Given the description of an element on the screen output the (x, y) to click on. 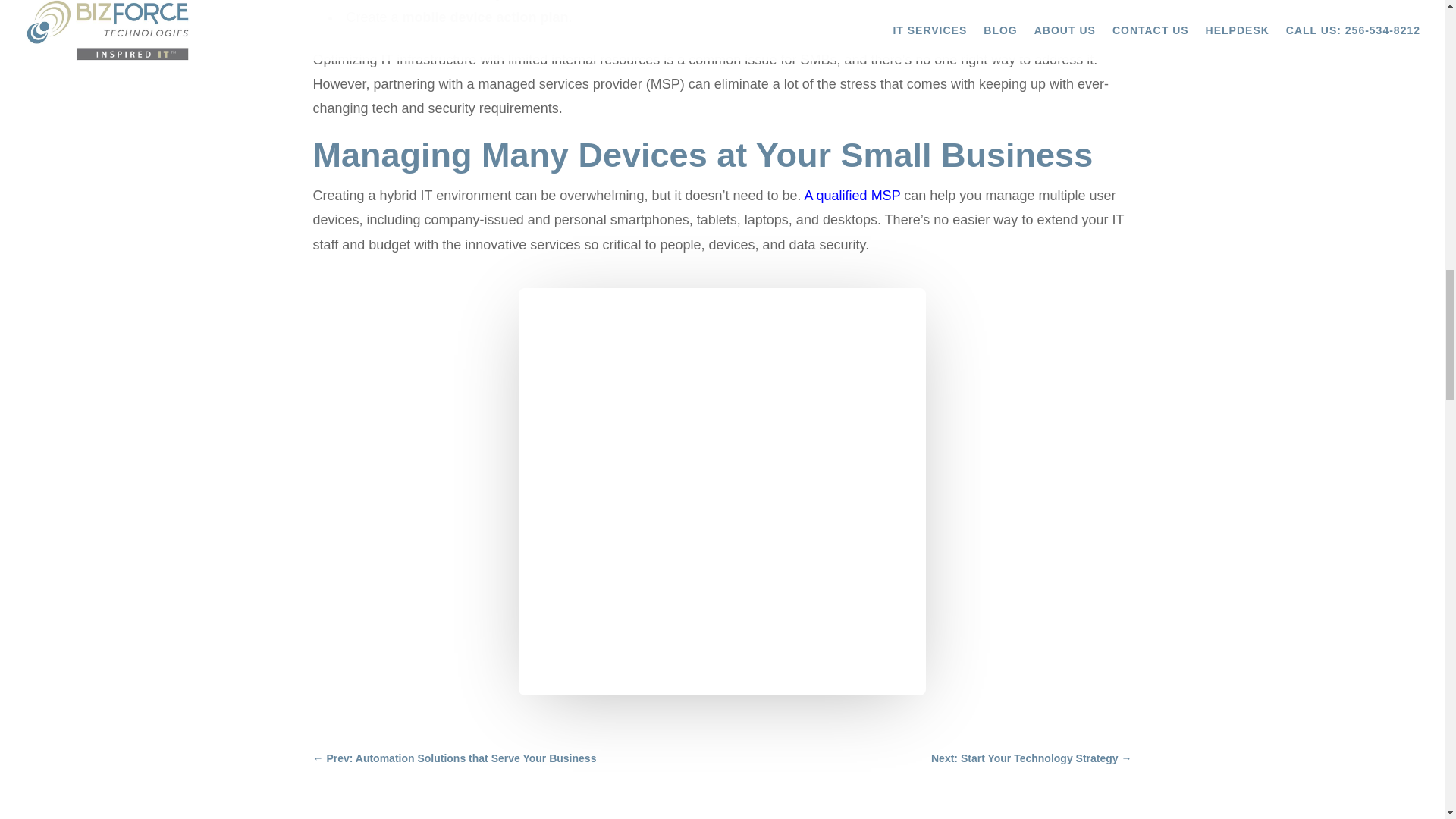
A qualified MSP (853, 195)
